Given the description of an element on the screen output the (x, y) to click on. 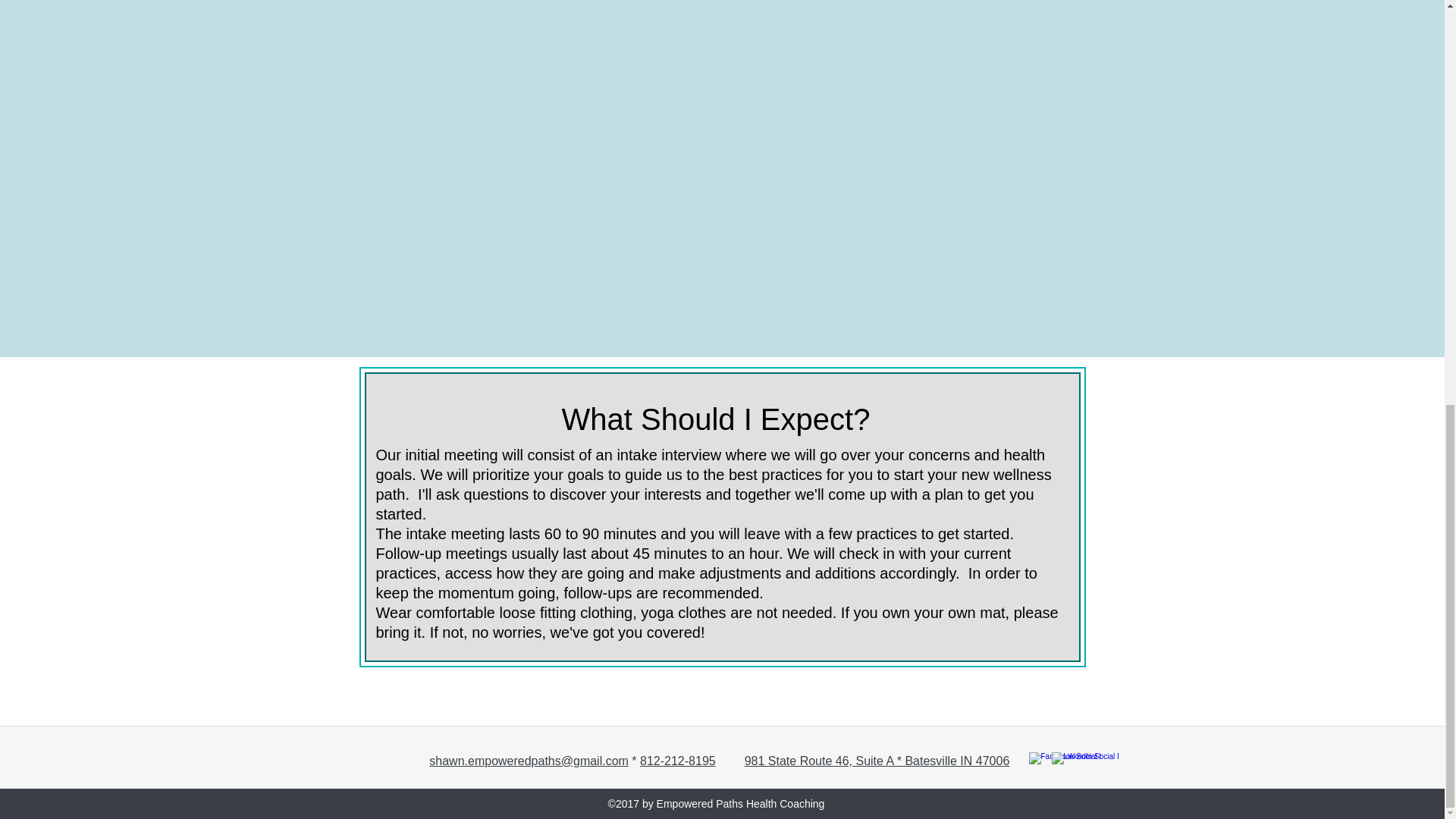
812-212-8195 (678, 760)
